Given the description of an element on the screen output the (x, y) to click on. 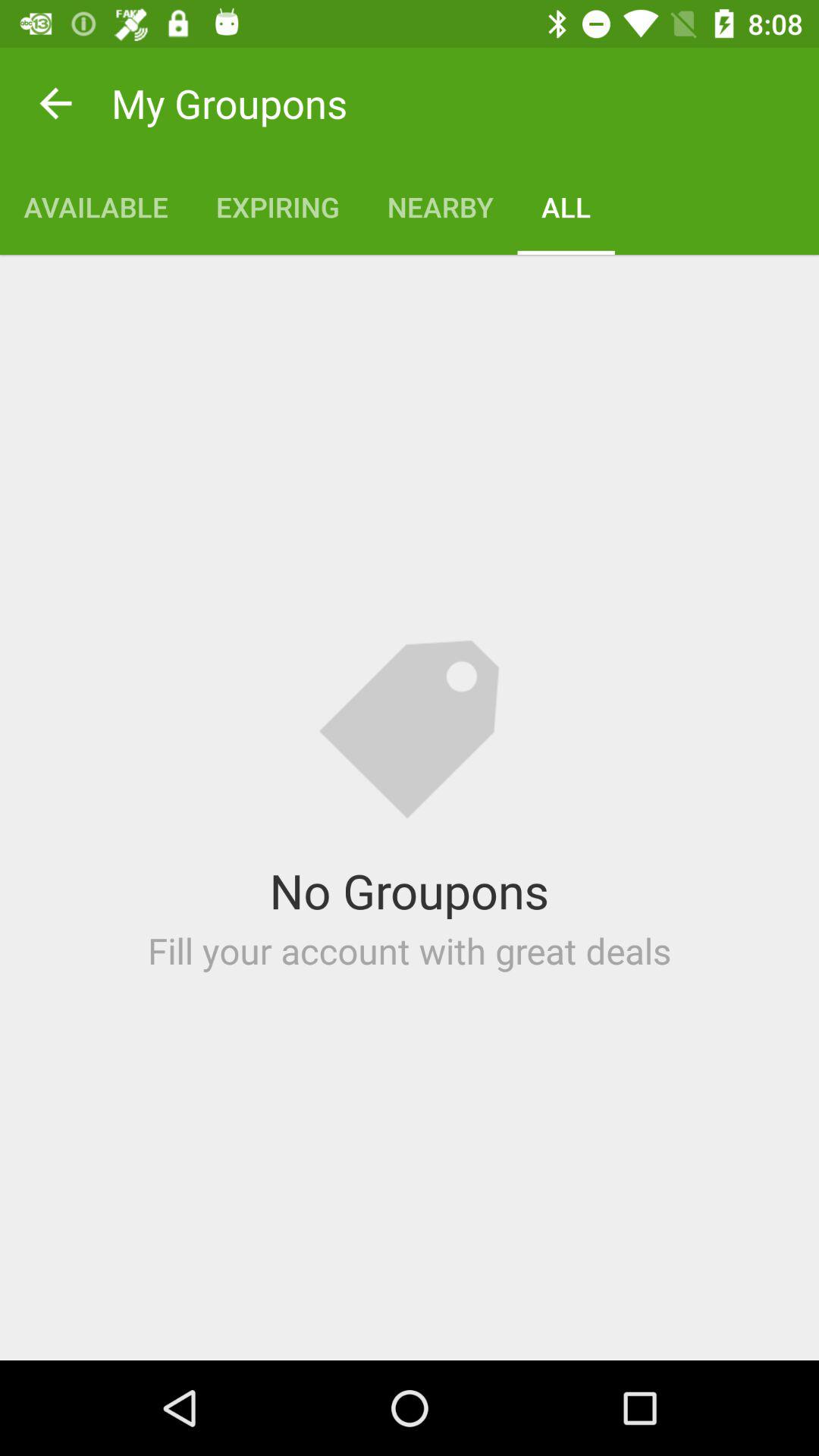
turn on all app (565, 206)
